Given the description of an element on the screen output the (x, y) to click on. 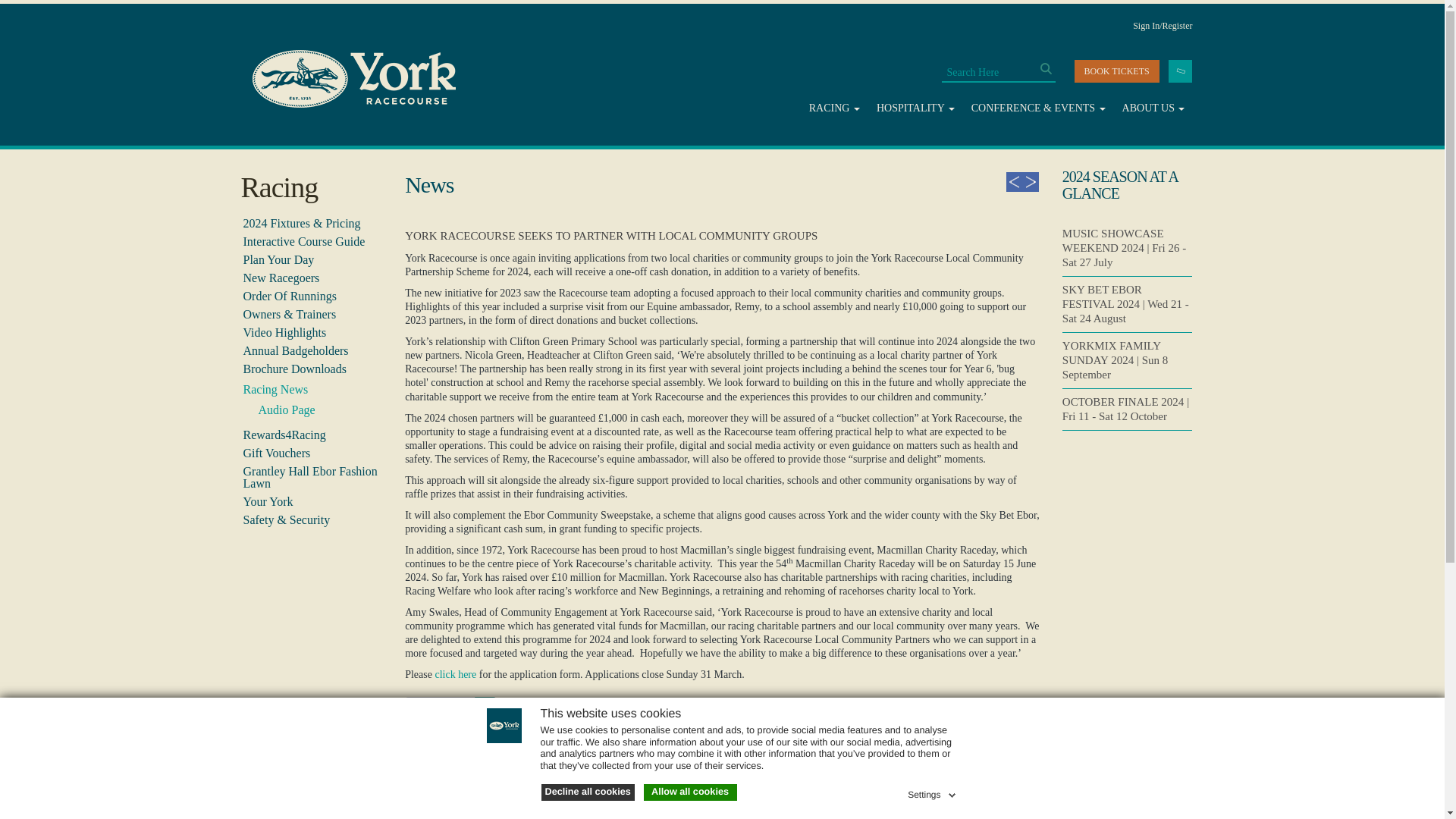
Decline all cookies (587, 791)
Settings (932, 791)
Allow all cookies (689, 791)
